Given the description of an element on the screen output the (x, y) to click on. 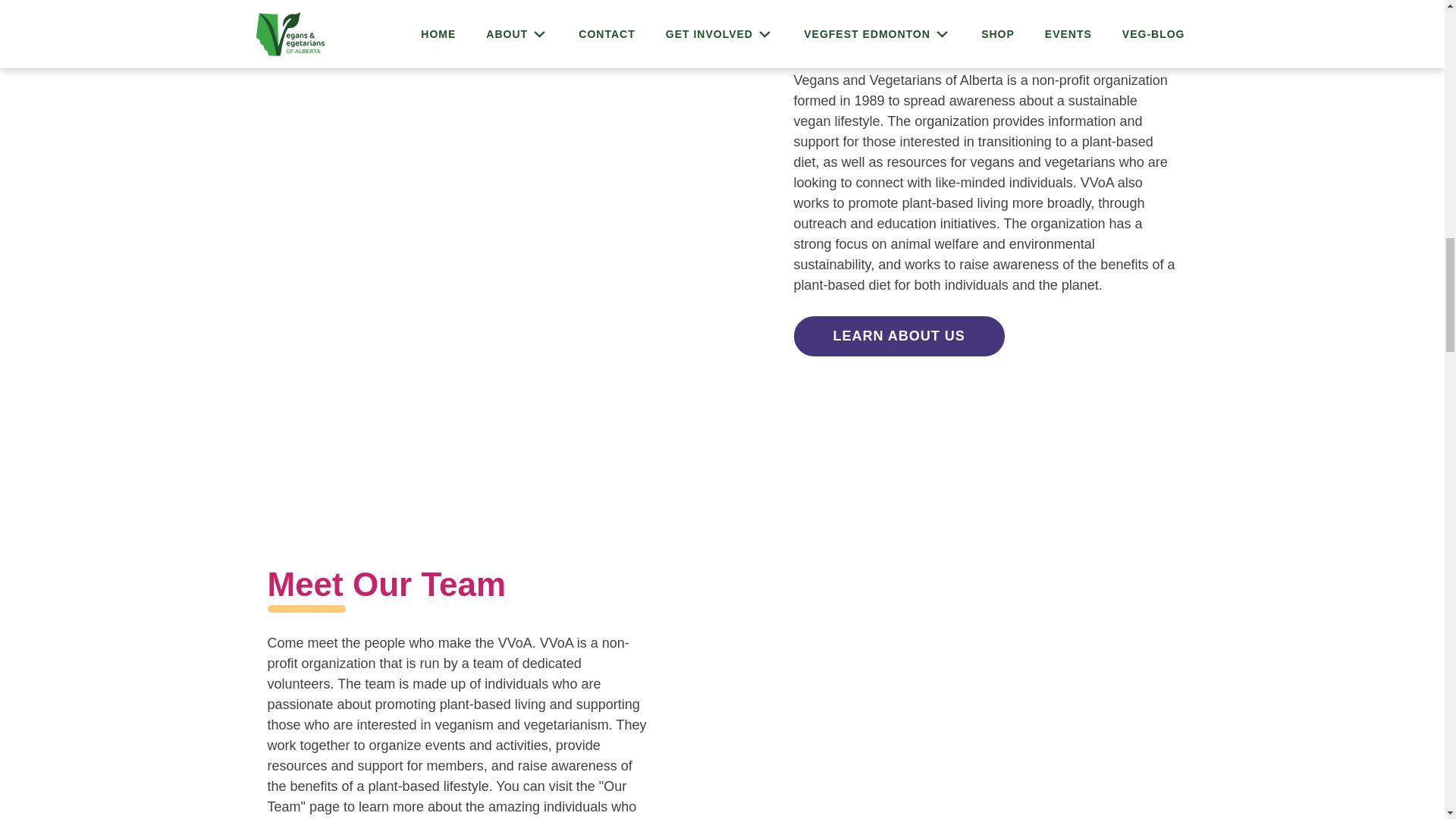
LEARN ABOUT US (898, 335)
